Given the description of an element on the screen output the (x, y) to click on. 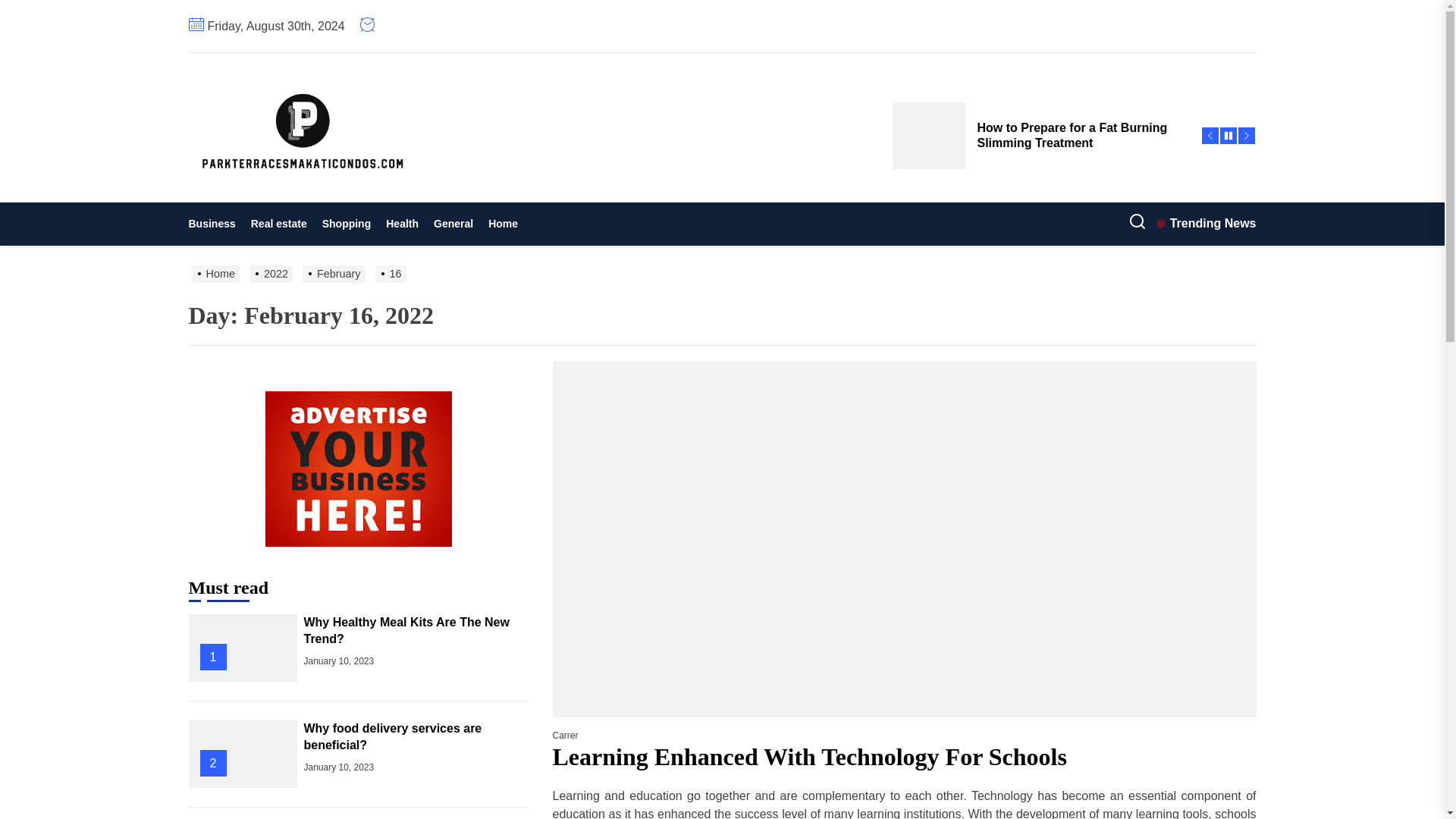
Real estate (278, 223)
How to Prepare for a Fat Burning Slimming Treatment (1036, 135)
Health (402, 223)
Business (215, 223)
How to Prepare for a Fat Burning Slimming Treatment (1036, 135)
Home (502, 223)
Are There Any closing costs at Spanish Moss Home Buyers? (1036, 67)
Trending News (1206, 223)
General (453, 223)
Shopping (346, 223)
